Given the description of an element on the screen output the (x, y) to click on. 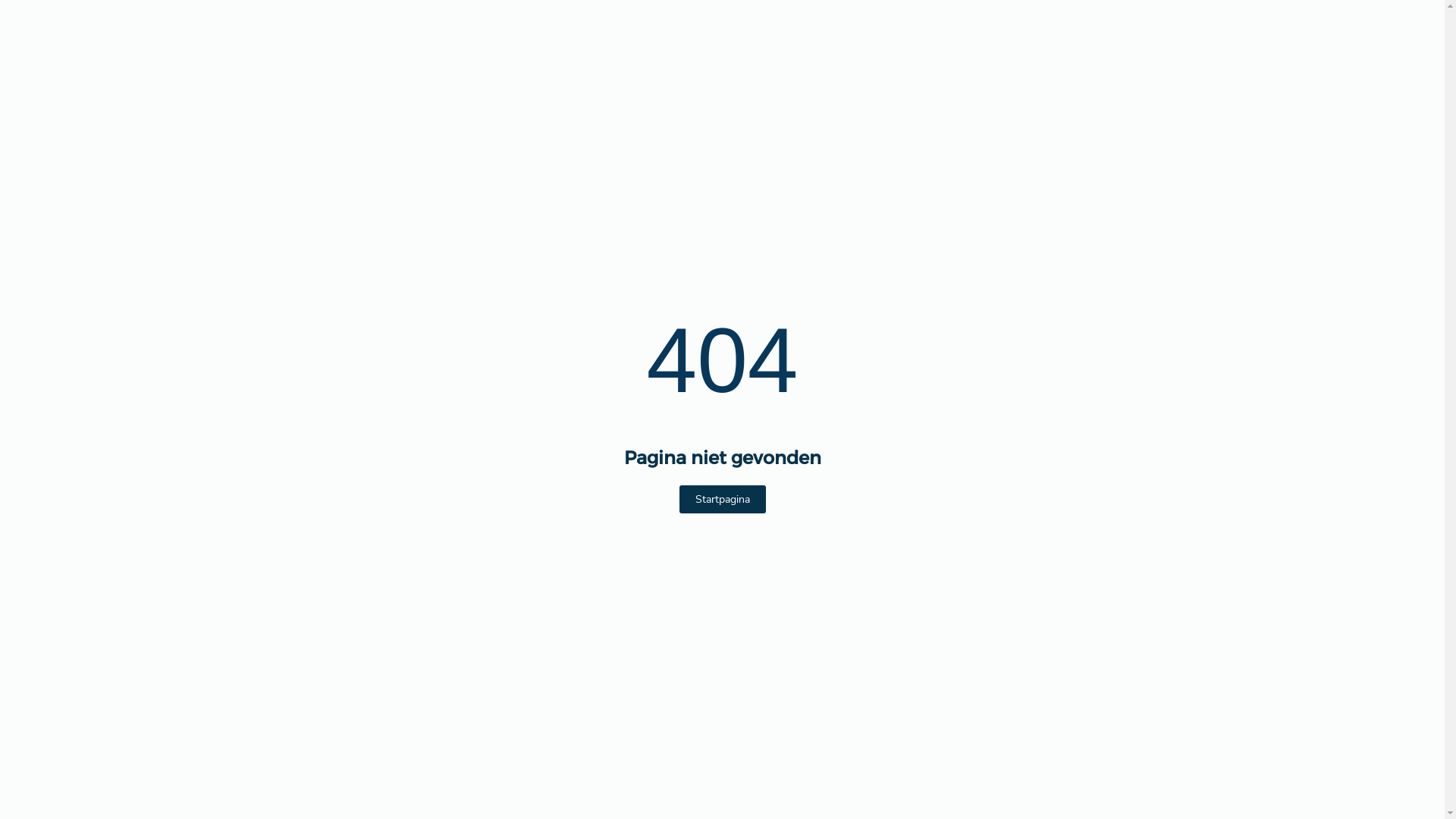
Startpagina Element type: text (722, 499)
